Given the description of an element on the screen output the (x, y) to click on. 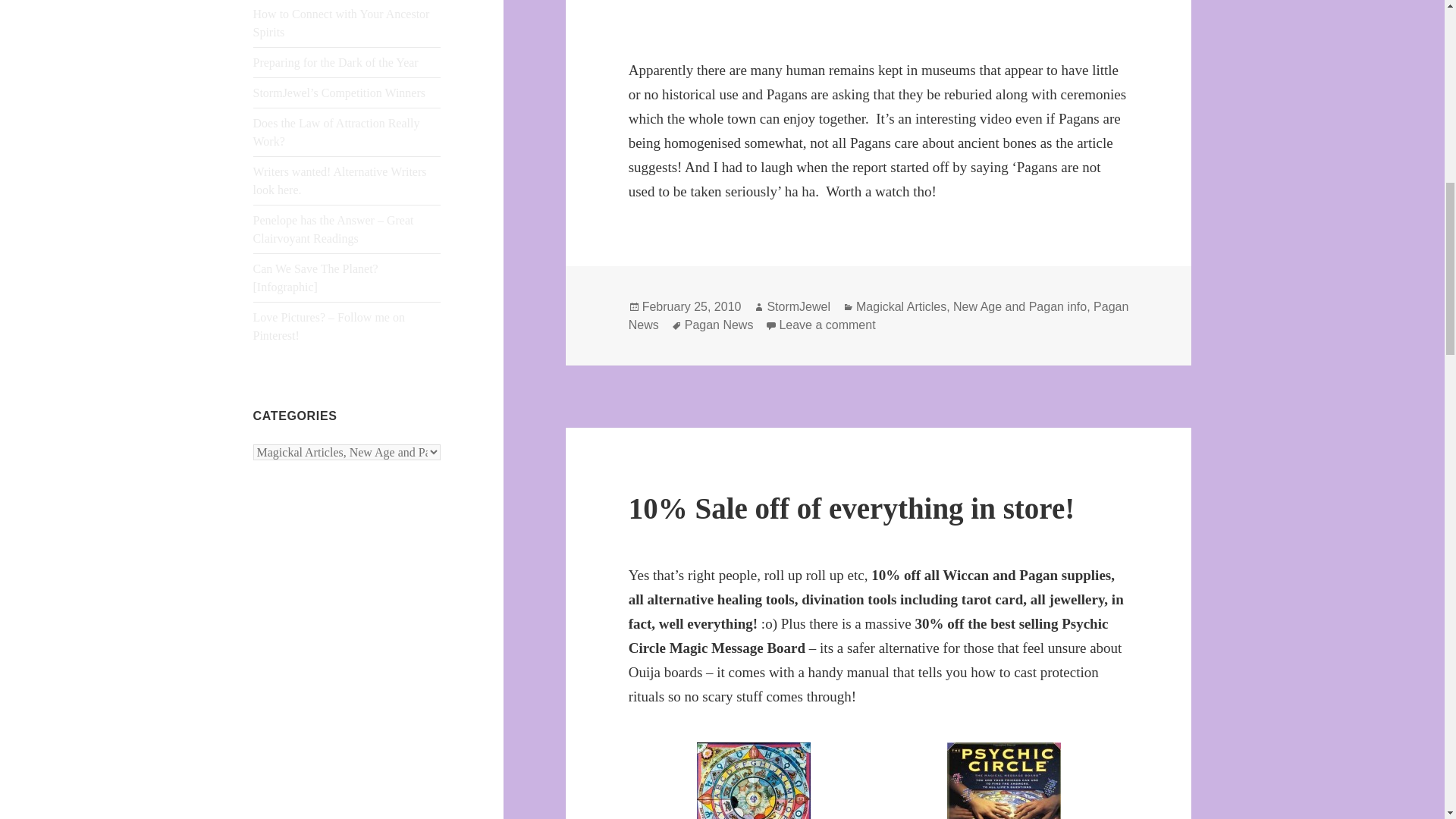
February 25, 2010 (691, 306)
Writers wanted! Alternative Writers look here. (339, 180)
Does the Law of Attraction Really Work? (336, 132)
Preparing for the Dark of the Year (336, 62)
Magickal Articles, New Age and Pagan info (971, 306)
Pagan News (826, 325)
Pagan News (719, 325)
How to Connect with Your Ancestor Spirits (878, 316)
StormJewel (341, 22)
